Given the description of an element on the screen output the (x, y) to click on. 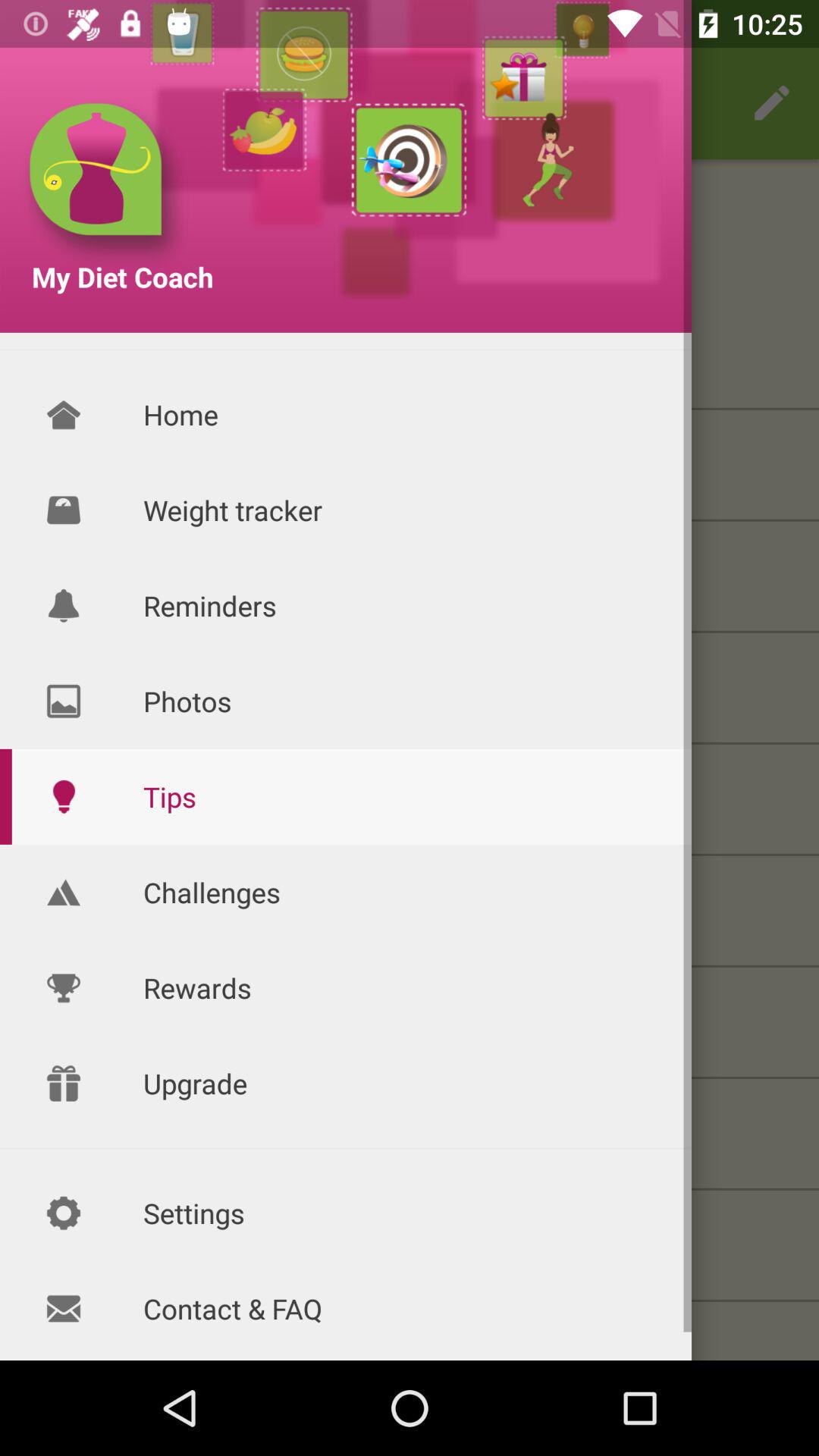
click on home symbol (63, 414)
select the photos icon (71, 688)
select the icon which is before rewards (71, 1023)
